Given the description of an element on the screen output the (x, y) to click on. 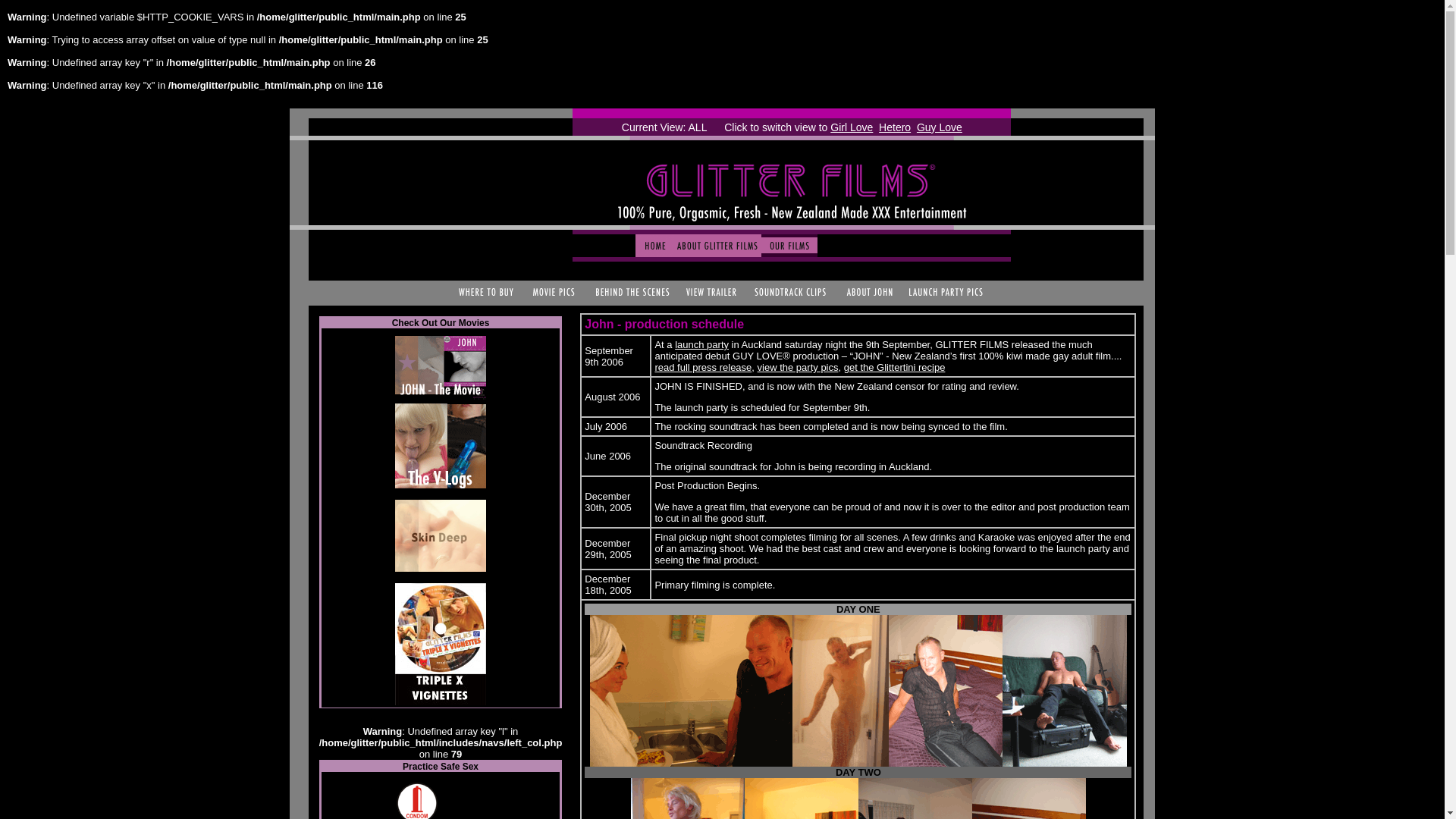
get the Glittertini recipe (894, 367)
launch party (702, 344)
Girl Love (850, 127)
read full press release (702, 367)
view the party pics (797, 367)
Hetero (895, 127)
Guy Love (939, 127)
